Given the description of an element on the screen output the (x, y) to click on. 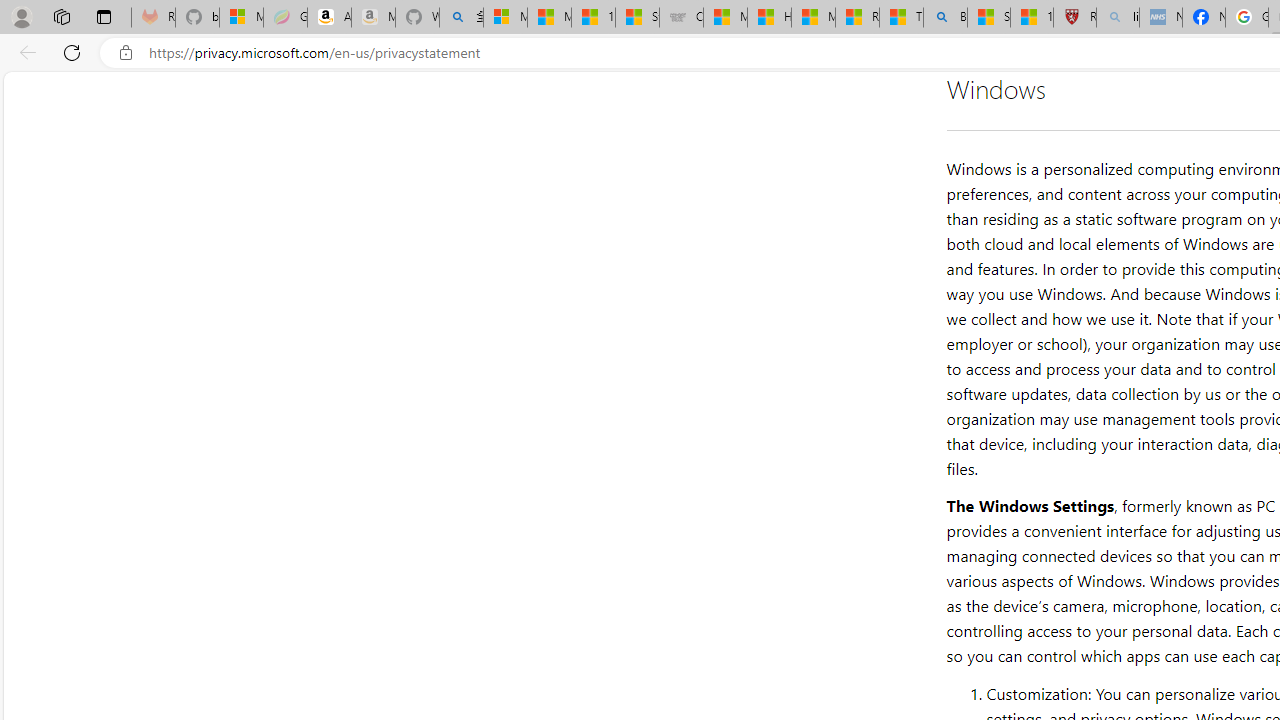
Combat Siege (681, 17)
Recipes - MSN (857, 17)
Stocks - MSN (637, 17)
